Given the description of an element on the screen output the (x, y) to click on. 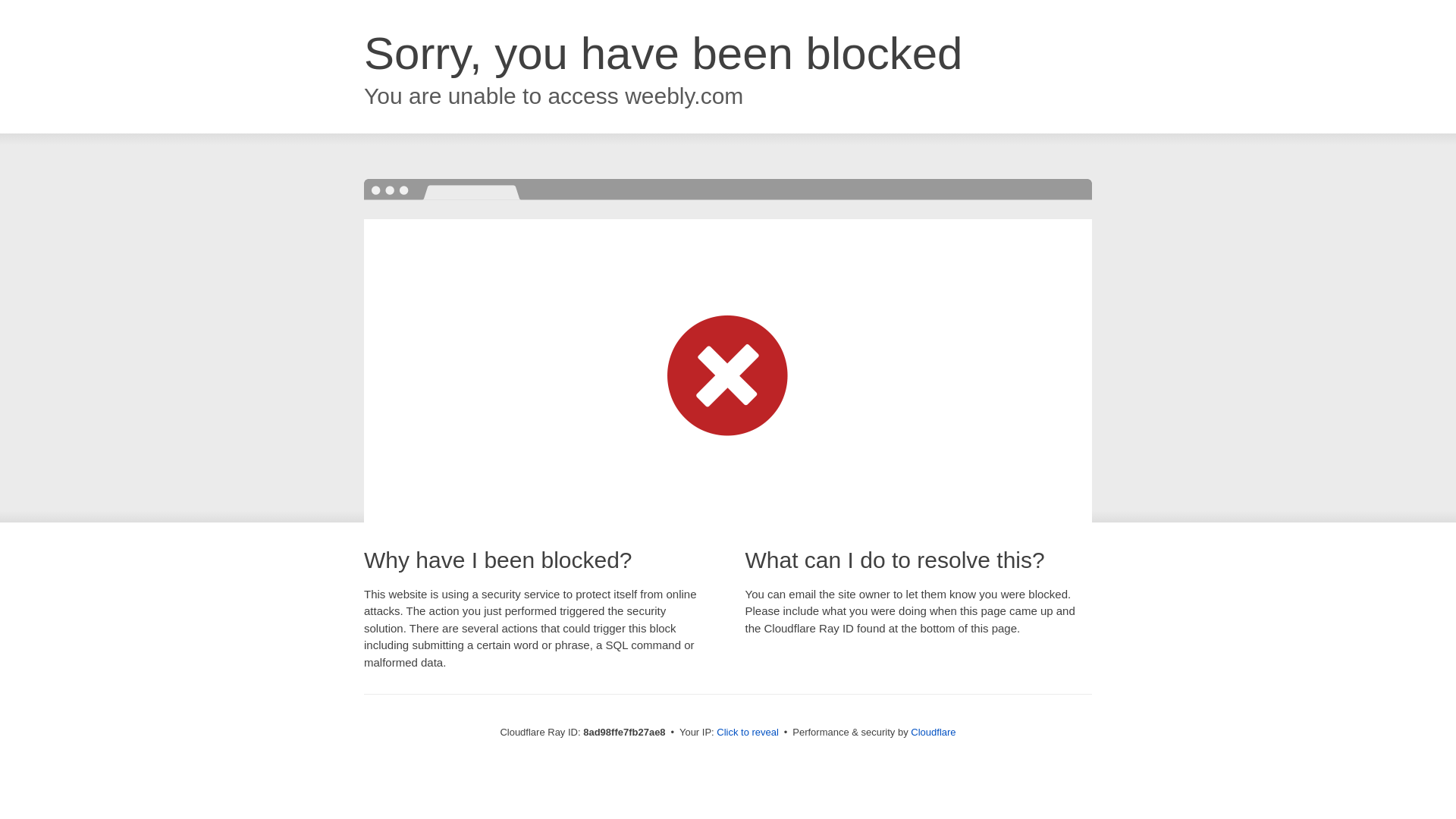
Cloudflare (933, 731)
Click to reveal (747, 732)
